Given the description of an element on the screen output the (x, y) to click on. 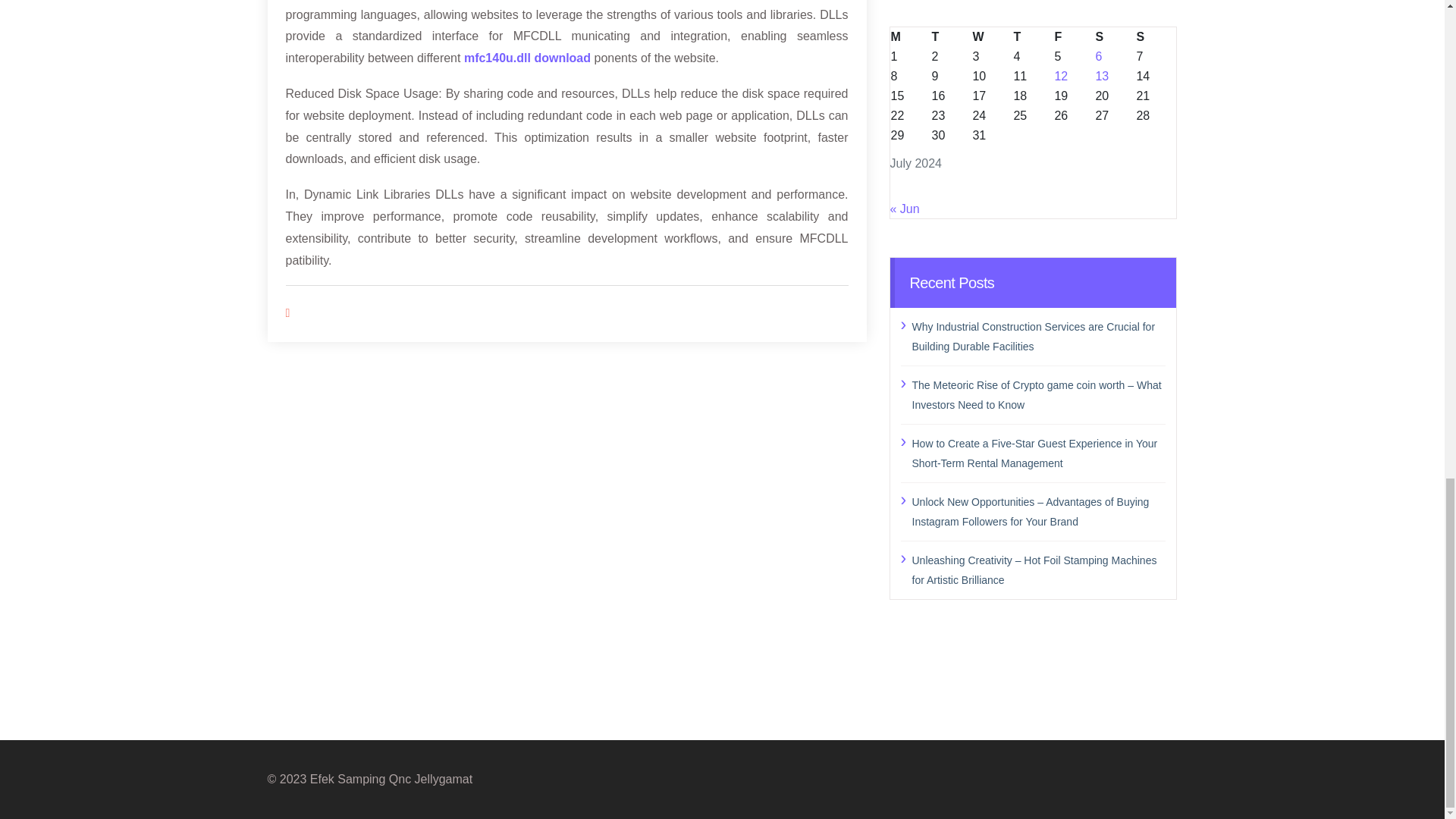
Thursday (1031, 35)
Saturday (1114, 35)
12 (1060, 74)
Monday (910, 35)
Sunday (1155, 35)
Tuesday (950, 35)
13 (1101, 74)
mfc140u.dll download (527, 57)
Wednesday (991, 35)
Friday (1073, 35)
